Given the description of an element on the screen output the (x, y) to click on. 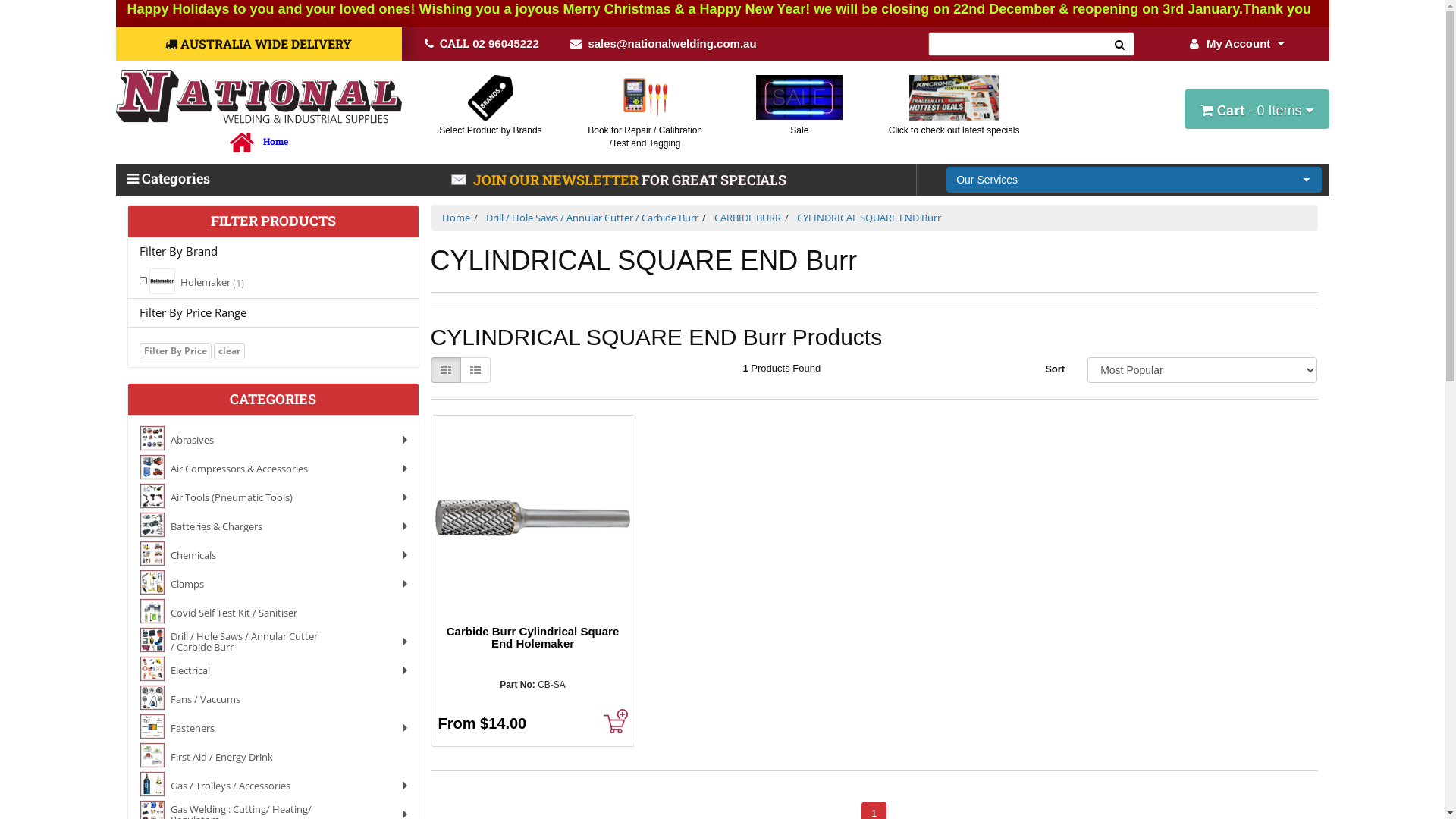
Sale Element type: text (799, 130)
CYLINDRICAL SQUARE END Burr Element type: text (868, 217)
CARBIDE BURR Element type: text (747, 217)
National Welding and Industrial Supplies Element type: hover (258, 97)
Drill / Hole Saws / Annular Cutter / Carbide Burr Element type: text (591, 217)
Categories Element type: text (213, 178)
FILTER PRODUCTS Element type: text (273, 221)
Our Services Element type: text (1133, 179)
Air Compressors & AccessoriesAir Compressors & Accessories Element type: text (272, 466)
Carbide Burr Cylindrical Square End Holemaker Element type: text (532, 636)
Air Tools (Pneumatic Tools)Air Tools (Pneumatic Tools) Element type: text (272, 495)
Batteries & ChargersBatteries & Chargers Element type: text (272, 524)
My Account Element type: text (1237, 43)
Click to check out latest specials Element type: text (953, 130)
Book for Repair / Calibration /Test and Tagging Element type: text (644, 136)
First Aid / Energy DrinkFirst Aid / Energy Drink Element type: text (272, 754)
Fans / Vaccums Fans / Vaccums Element type: text (272, 697)
CALL 02 96045222 Element type: text (481, 43)
Home Element type: text (455, 217)
sales@nationalwelding.com.au Element type: text (663, 43)
Gas / Trolleys / Accessories Gas / Trolleys / Accessories Element type: text (272, 783)
Filter By Price Element type: text (175, 350)
ChemicalsChemicals Element type: text (272, 553)
Cart - 0 Items Element type: text (1256, 108)
ClampsClamps Element type: text (272, 581)
Search Element type: text (1119, 43)
  JOIN OUR NEWSLETTER FOR GREAT SPECIALS Element type: text (618, 175)
Home Element type: text (275, 140)
Select Product by Brands Element type: text (490, 130)
Fasteners Fasteners Element type: text (272, 726)
ElectricalElectrical Element type: text (272, 668)
clear Element type: text (228, 350)
HolemakerHolemaker (1) Element type: text (272, 281)
AbrasivesAbrasives Element type: text (272, 437)
